Given the description of an element on the screen output the (x, y) to click on. 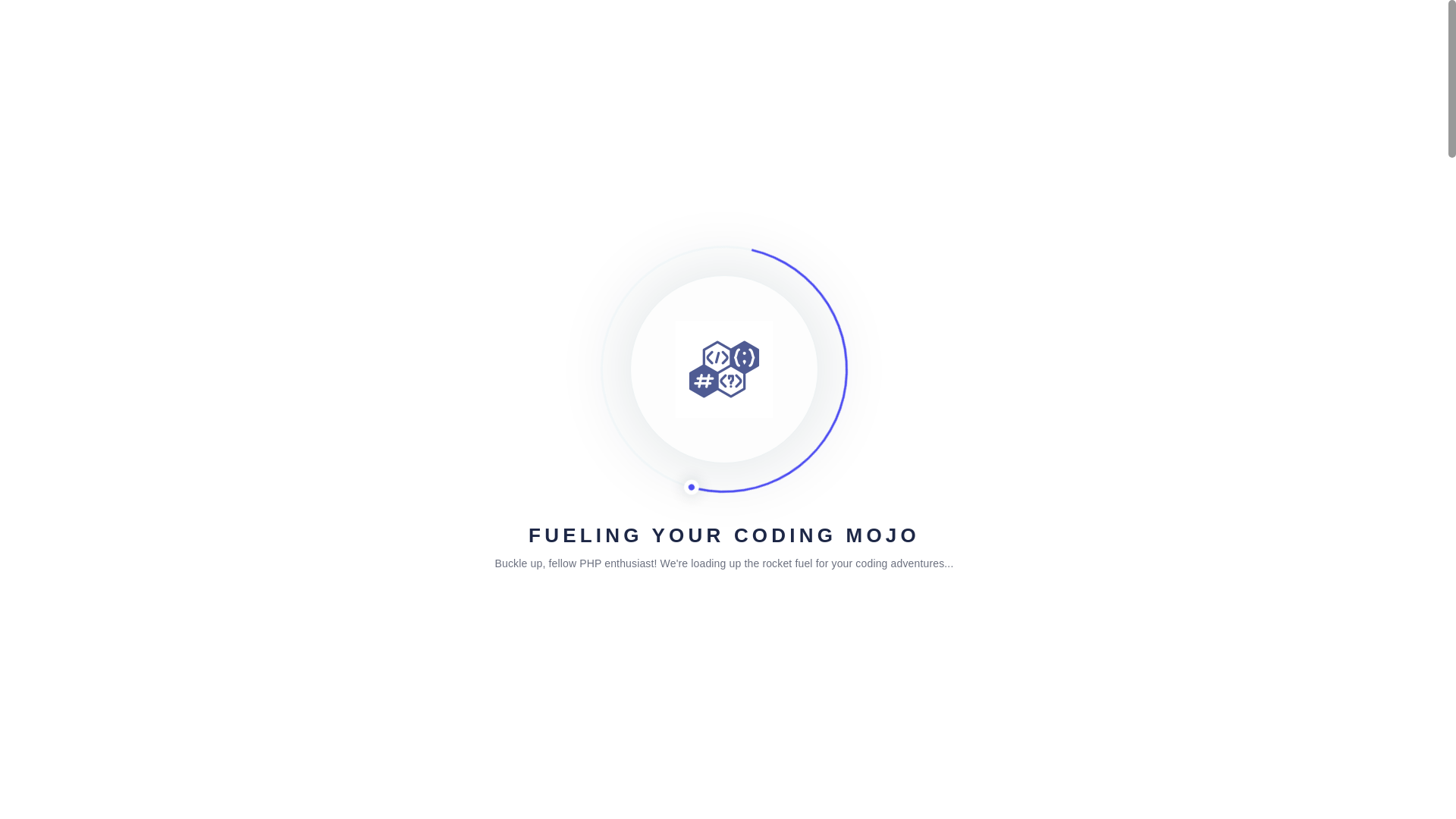
Expressions (931, 38)
Variables (849, 38)
Home (294, 314)
PHP (652, 213)
Usage (837, 213)
Windows Server Core (724, 817)
Installation Process (614, 817)
PHP Jobs and Interview (1048, 38)
Home (630, 38)
Best Practices (713, 213)
Step-by-step Instructions (496, 817)
Installation on Windows Systems (477, 314)
Examples (784, 213)
Basic Syntax (706, 38)
Ask Question (882, 441)
